Given the description of an element on the screen output the (x, y) to click on. 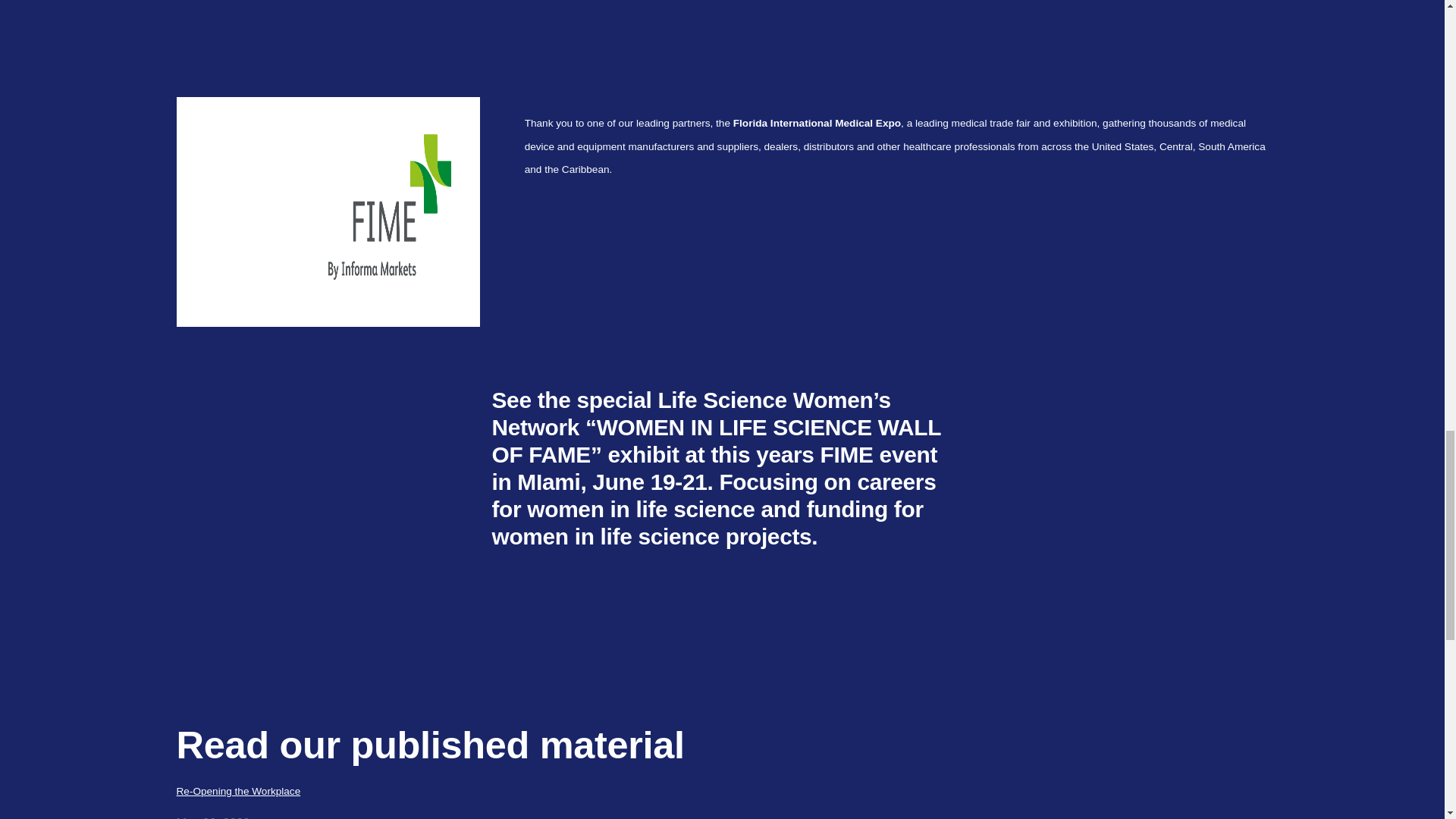
Re-Opening the Workplace (722, 791)
